Given the description of an element on the screen output the (x, y) to click on. 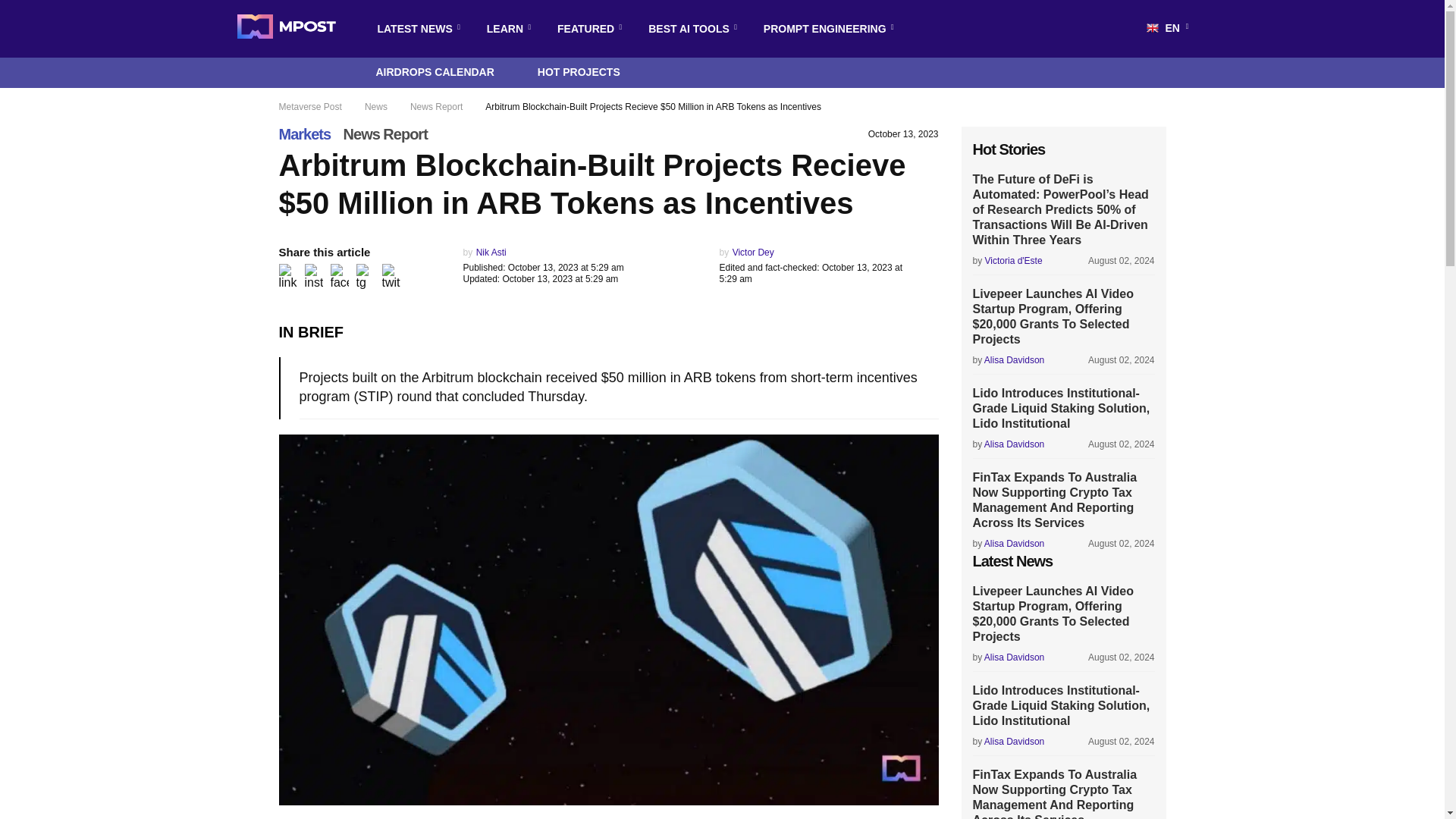
LEARN (505, 29)
LATEST NEWS (414, 29)
BEST AI TOOLS (688, 29)
Metaverse Post (284, 28)
Posts by Nik Asti (491, 252)
FEATURED (585, 29)
